Given the description of an element on the screen output the (x, y) to click on. 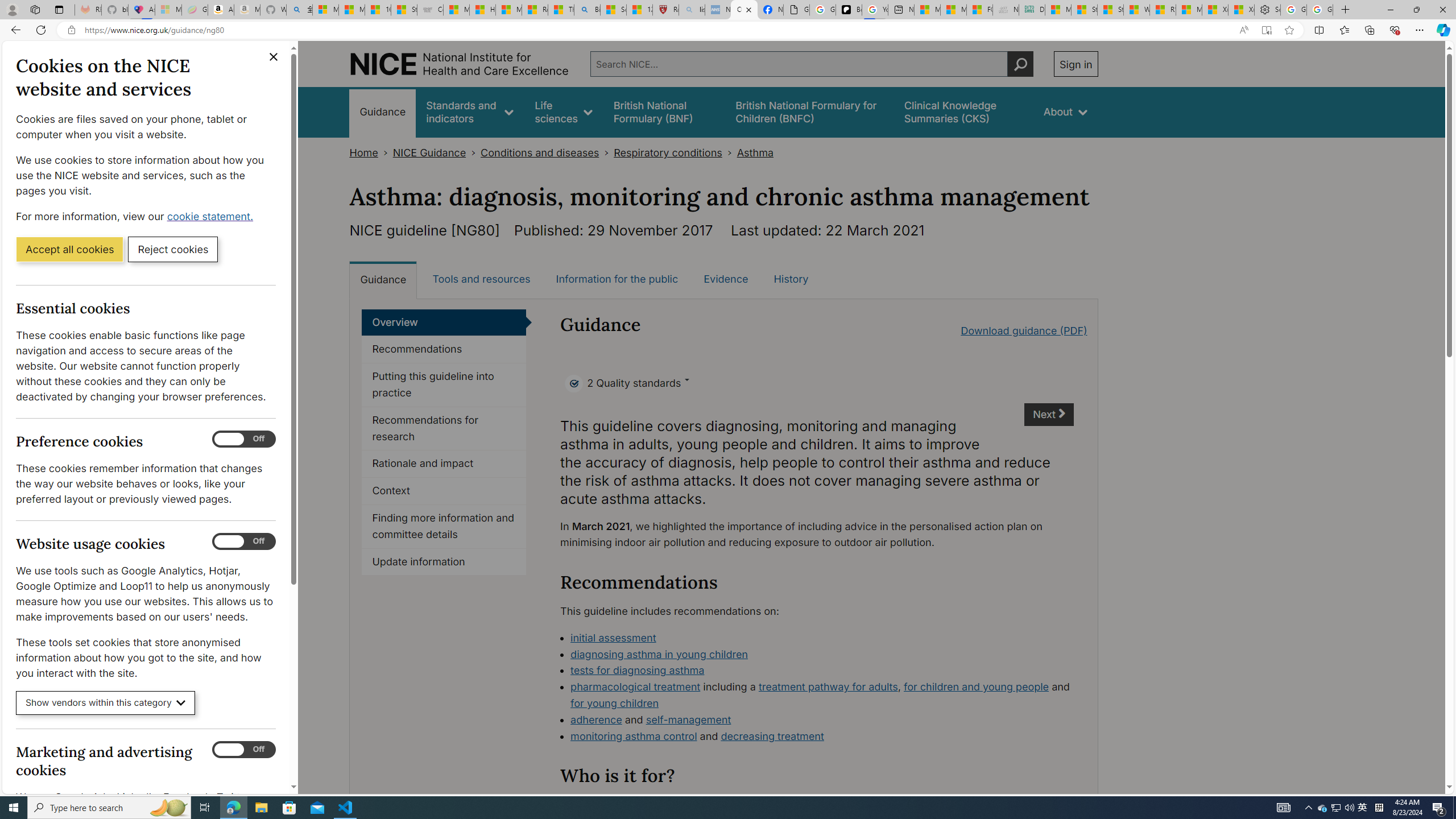
self-management (687, 719)
Tools and resources (481, 279)
Close cookie banner (273, 56)
Finding more information and committee details (444, 526)
Bing (587, 9)
Recommendations for research (444, 428)
R******* | Trusted Community Engagement and Contributions (1162, 9)
